Given the description of an element on the screen output the (x, y) to click on. 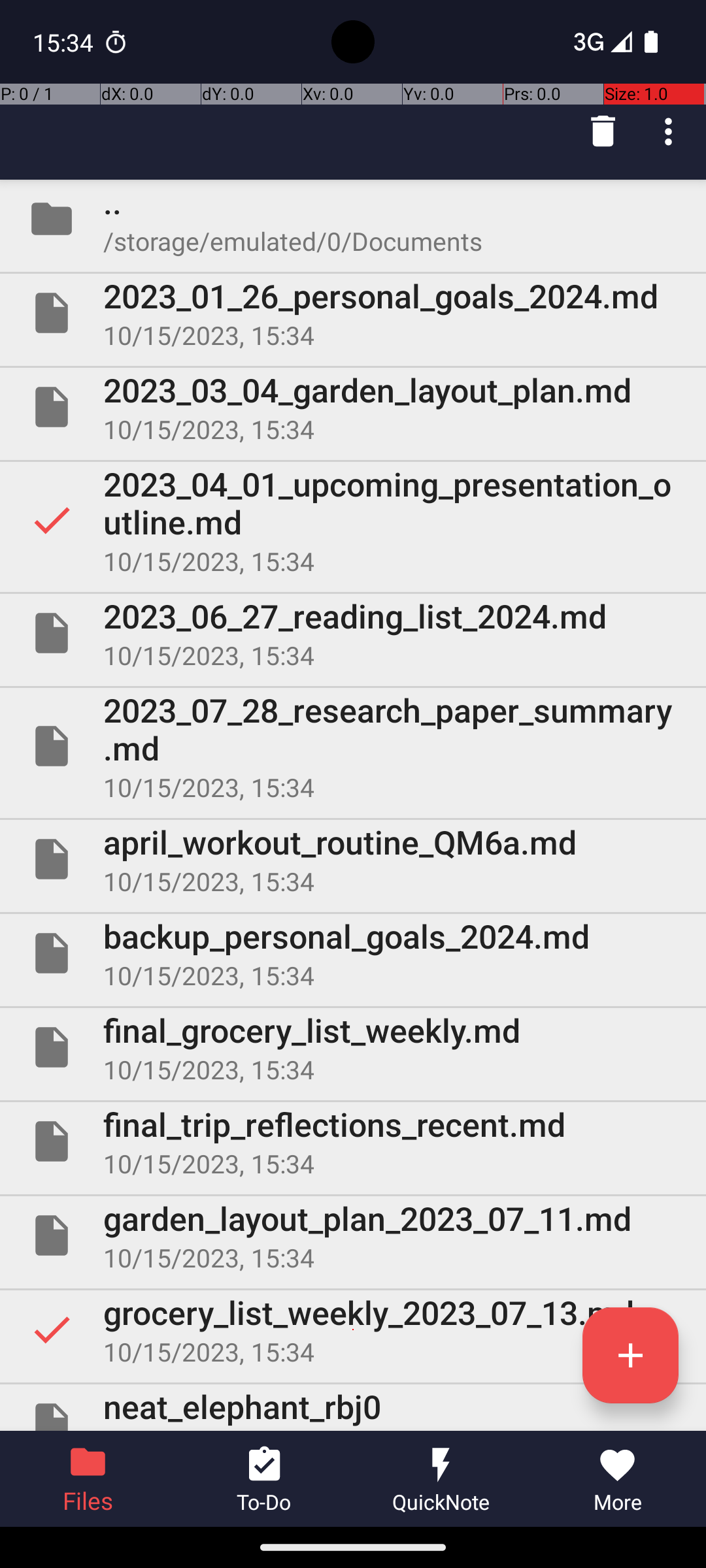
File 2023_01_26_personal_goals_2024.md  Element type: android.widget.LinearLayout (353, 312)
File 2023_03_04_garden_layout_plan.md  Element type: android.widget.LinearLayout (353, 406)
Selected 2023_04_01_upcoming_presentation_outline.md  Element type: android.widget.LinearLayout (353, 519)
File 2023_06_27_reading_list_2024.md  Element type: android.widget.LinearLayout (353, 632)
File 2023_07_28_research_paper_summary.md  Element type: android.widget.LinearLayout (353, 745)
File april_workout_routine_QM6a.md  Element type: android.widget.LinearLayout (353, 858)
File backup_personal_goals_2024.md  Element type: android.widget.LinearLayout (353, 953)
File final_grocery_list_weekly.md  Element type: android.widget.LinearLayout (353, 1047)
File final_trip_reflections_recent.md  Element type: android.widget.LinearLayout (353, 1141)
File garden_layout_plan_2023_07_11.md  Element type: android.widget.LinearLayout (353, 1235)
Selected grocery_list_weekly_2023_07_13.md 10/15/2023, 15:34 Element type: android.widget.LinearLayout (353, 1329)
File neat_elephant_rbj0  Element type: android.widget.LinearLayout (353, 1407)
